Given the description of an element on the screen output the (x, y) to click on. 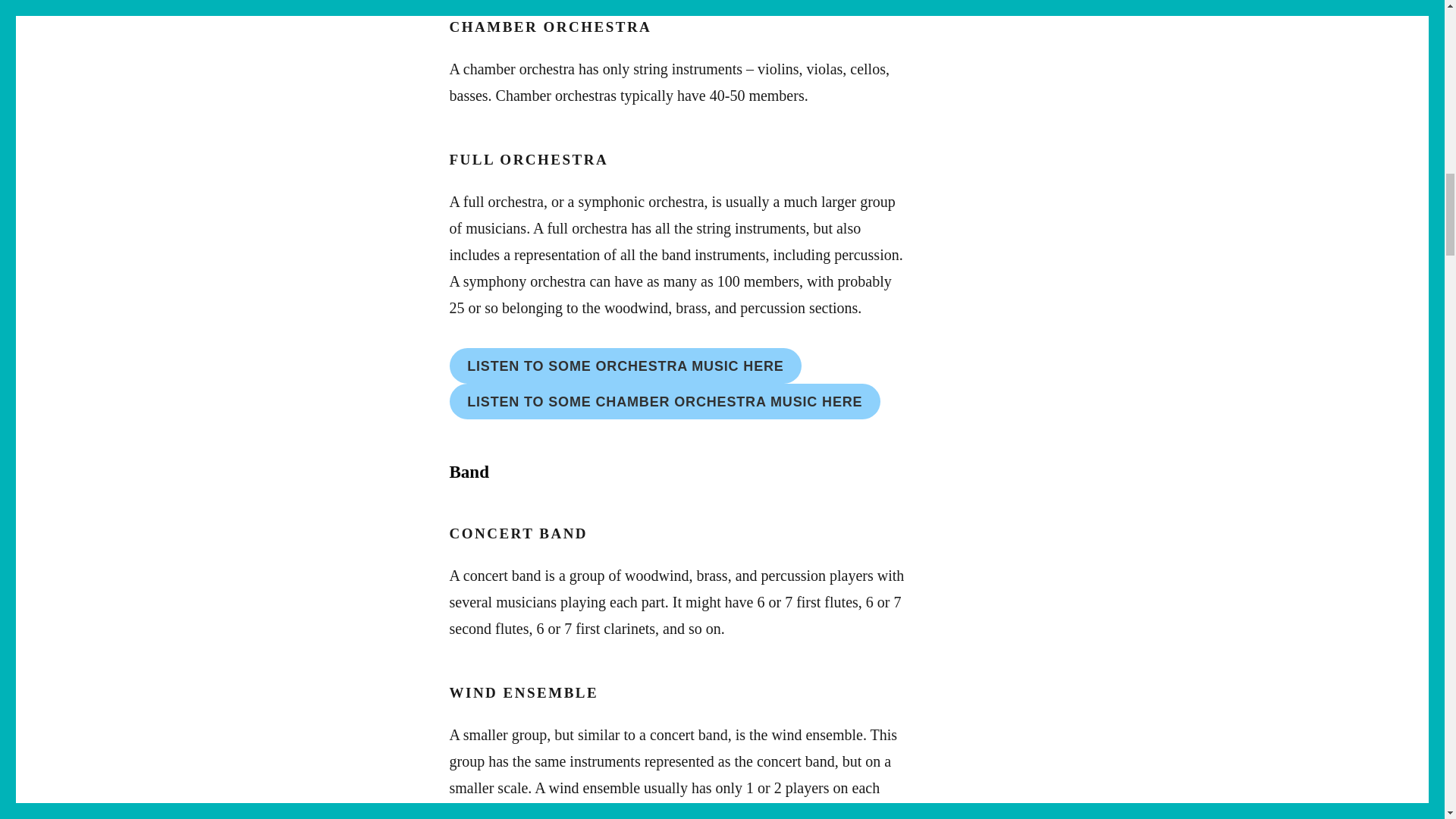
LISTEN TO SOME CHAMBER ORCHESTRA MUSIC HERE (664, 401)
LISTEN TO SOME ORCHESTRA MUSIC HERE (625, 366)
